Given the description of an element on the screen output the (x, y) to click on. 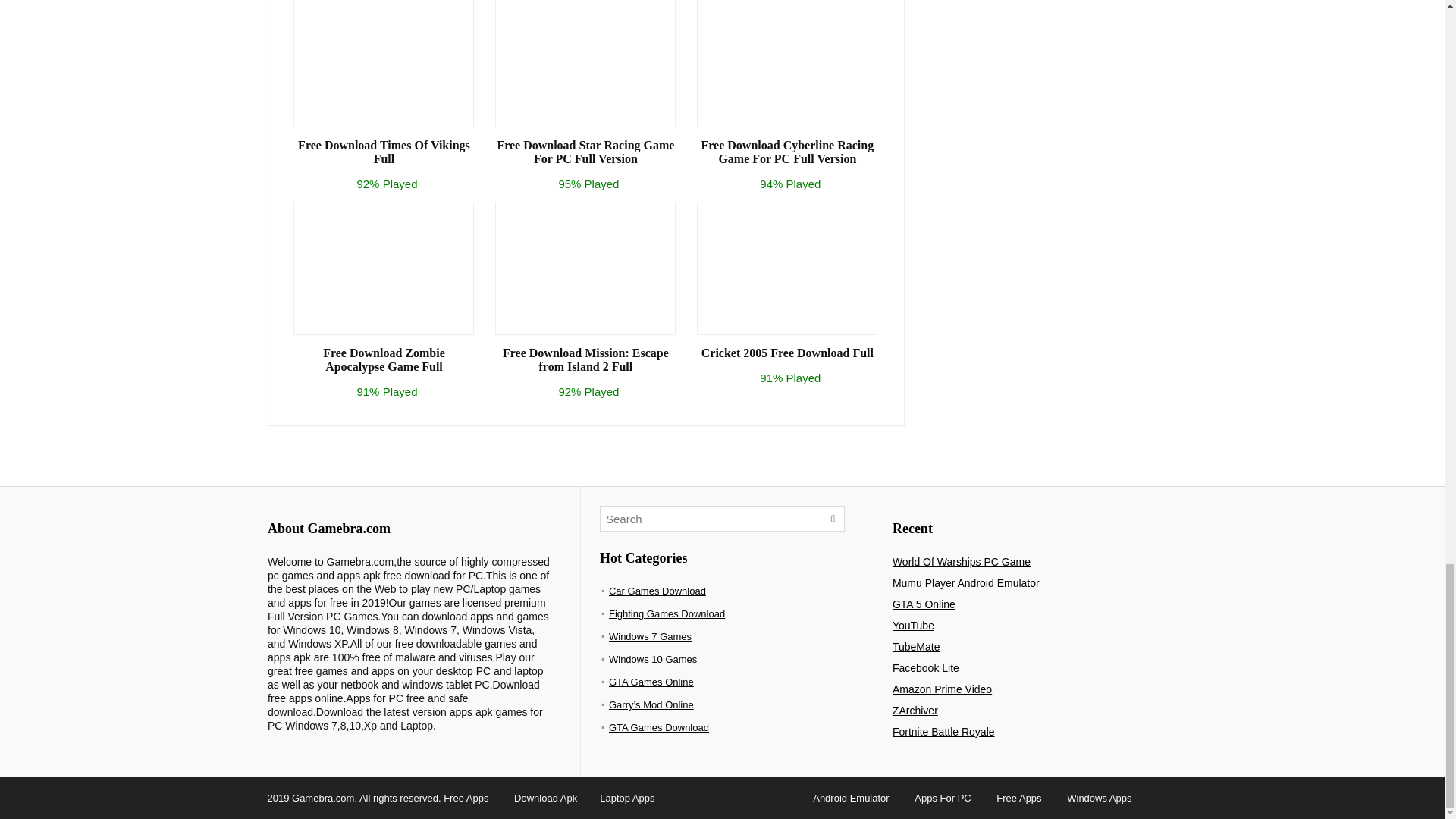
Free Download Zombie Apocalypse Game Full (384, 359)
Cricket 2005 Free Download Full (787, 353)
Free Download Cyberline Racing Game For PC Full Version (787, 152)
Free Download Star Racing Game For PC Full Version (585, 152)
Free Download Mission: Escape from Island 2 Full (585, 359)
Free Download Times Of Vikings Full (384, 152)
